Given the description of an element on the screen output the (x, y) to click on. 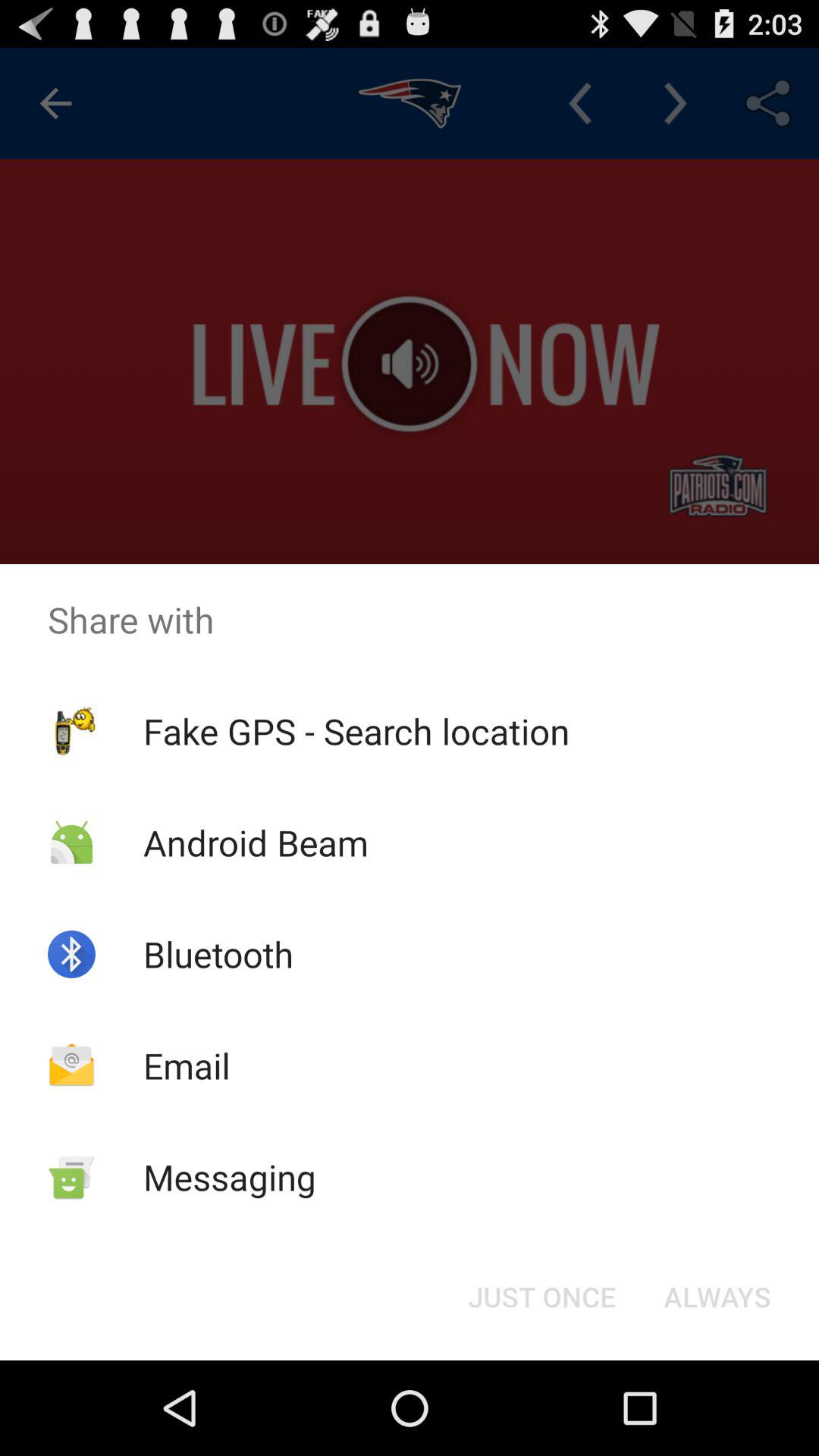
turn on android beam (255, 842)
